Given the description of an element on the screen output the (x, y) to click on. 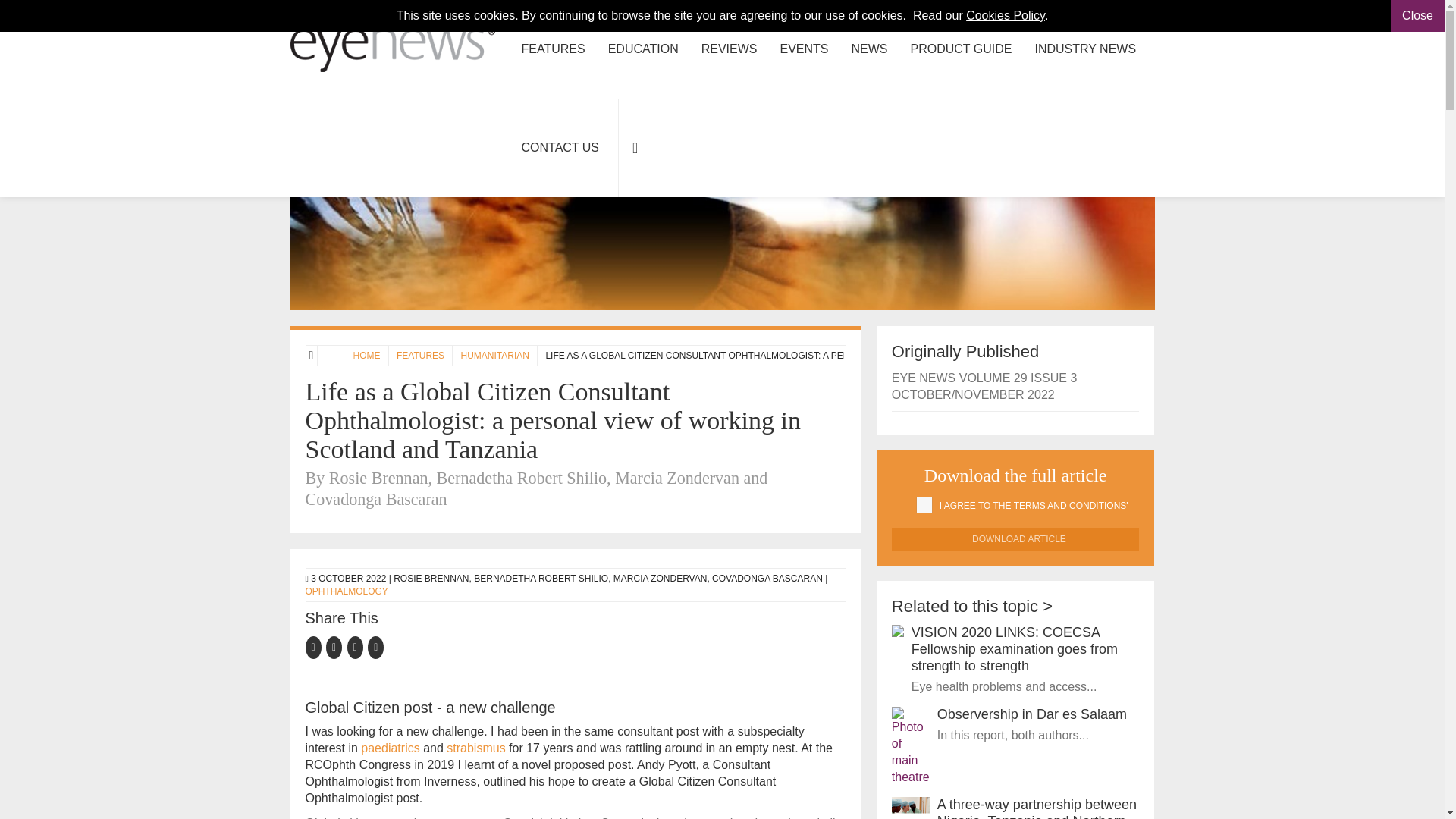
Cookies Policy (1005, 15)
On Reddit (376, 645)
On Twitter (336, 645)
EDUCATION (643, 49)
On LinkedIn (357, 645)
PRODUCT GUIDE (961, 49)
On Facebook (315, 645)
INDUSTRY NEWS (1085, 49)
